Given the description of an element on the screen output the (x, y) to click on. 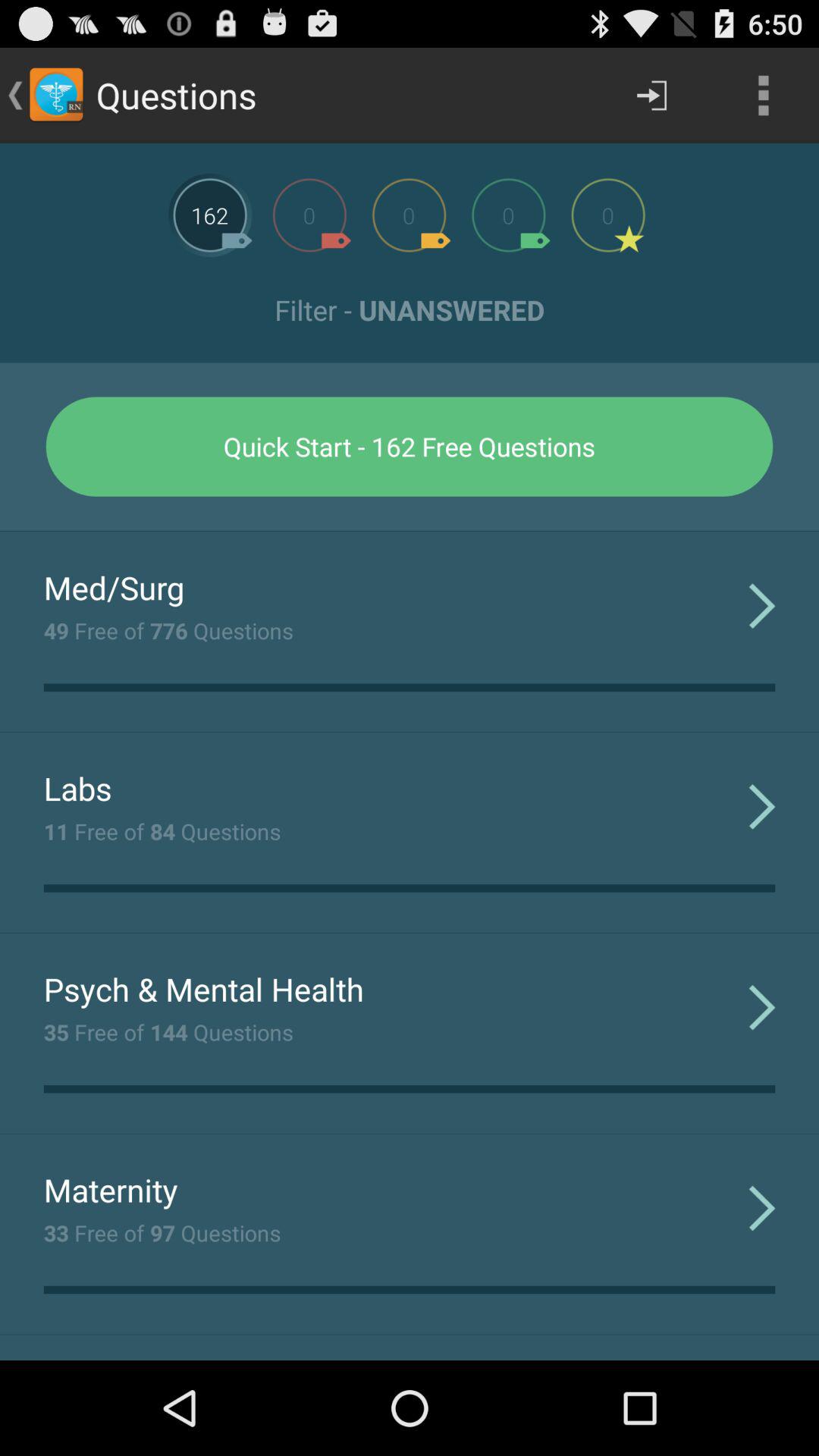
turn off icon to the right of 11 free of item (762, 806)
